Given the description of an element on the screen output the (x, y) to click on. 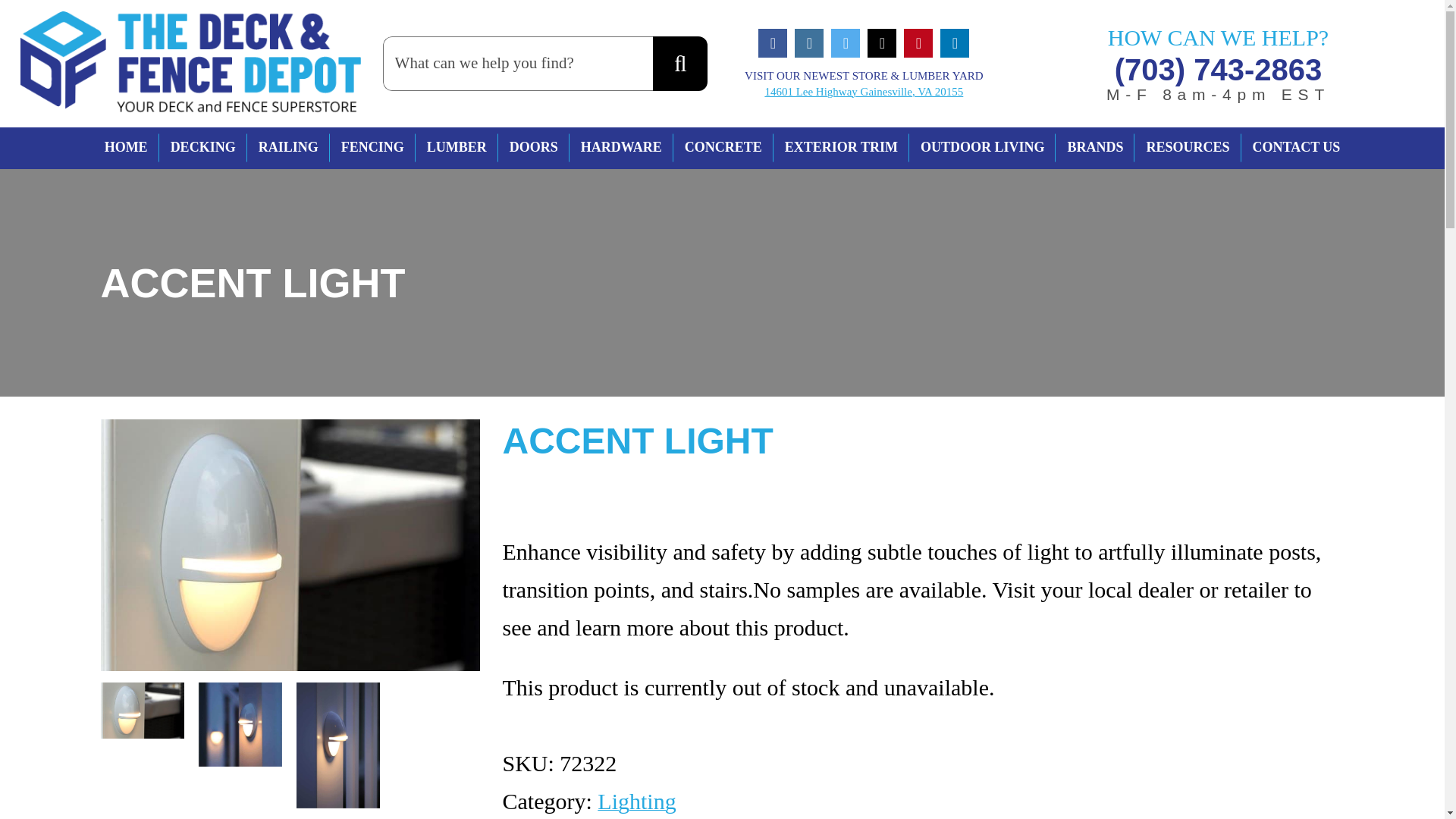
Facebook (772, 42)
HOME (126, 147)
Twitter (845, 42)
LinkedIn (954, 42)
14601 Lee Highway Gainesville, VA 20155 (863, 91)
Pinterest (918, 42)
Instagram (809, 42)
DECKING (203, 147)
Tiktok (881, 42)
